Given the description of an element on the screen output the (x, y) to click on. 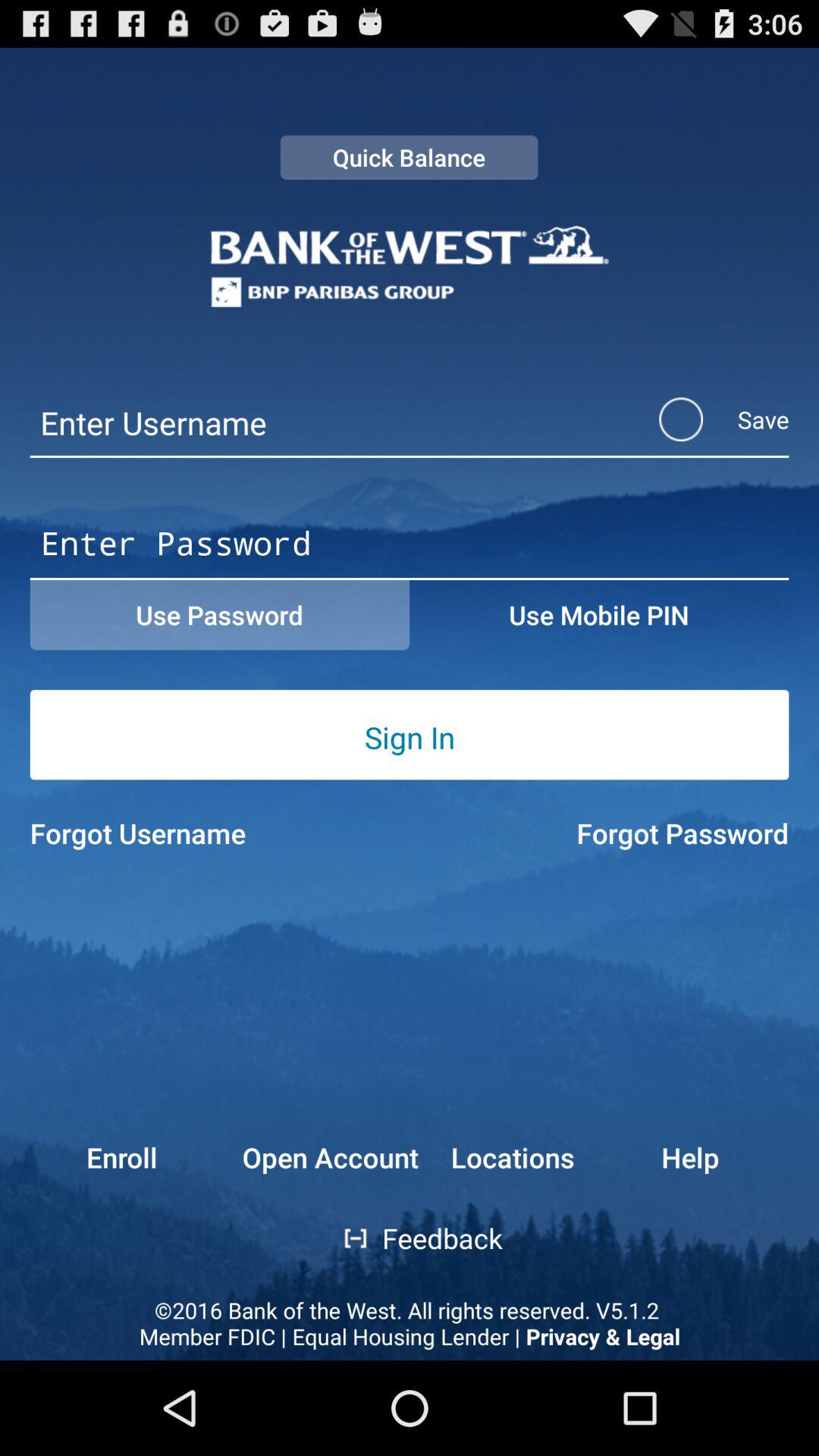
select button to the right of enroll button (345, 1238)
